Given the description of an element on the screen output the (x, y) to click on. 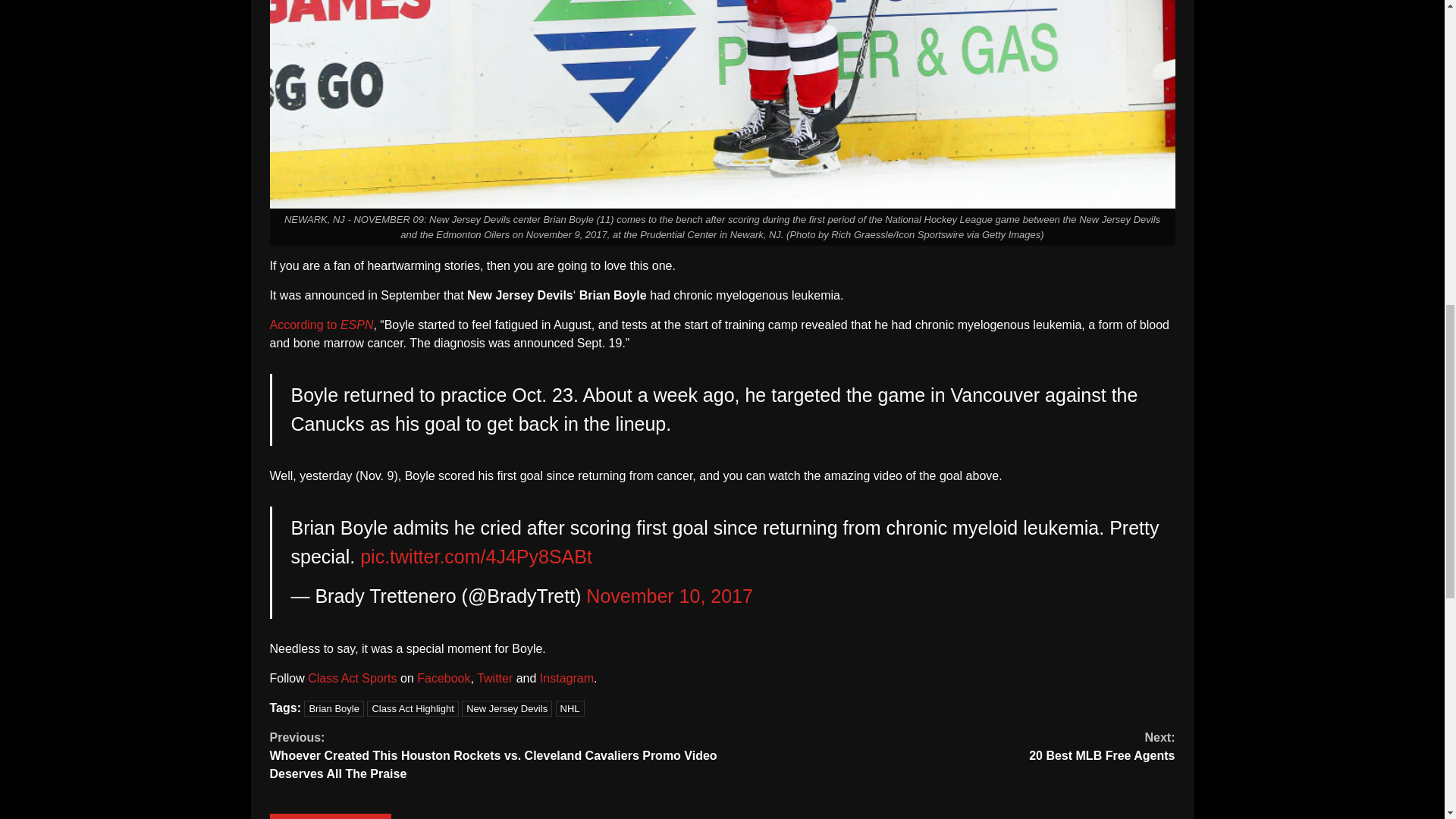
November 10, 2017 (669, 595)
Facebook (443, 677)
Class Act Sports (351, 677)
NHL (570, 708)
Class Act Highlight (412, 708)
Instagram (567, 677)
Brian Boyle (948, 746)
According to ESPN (333, 708)
New Jersey Devils (321, 324)
Twitter (506, 708)
